Given the description of an element on the screen output the (x, y) to click on. 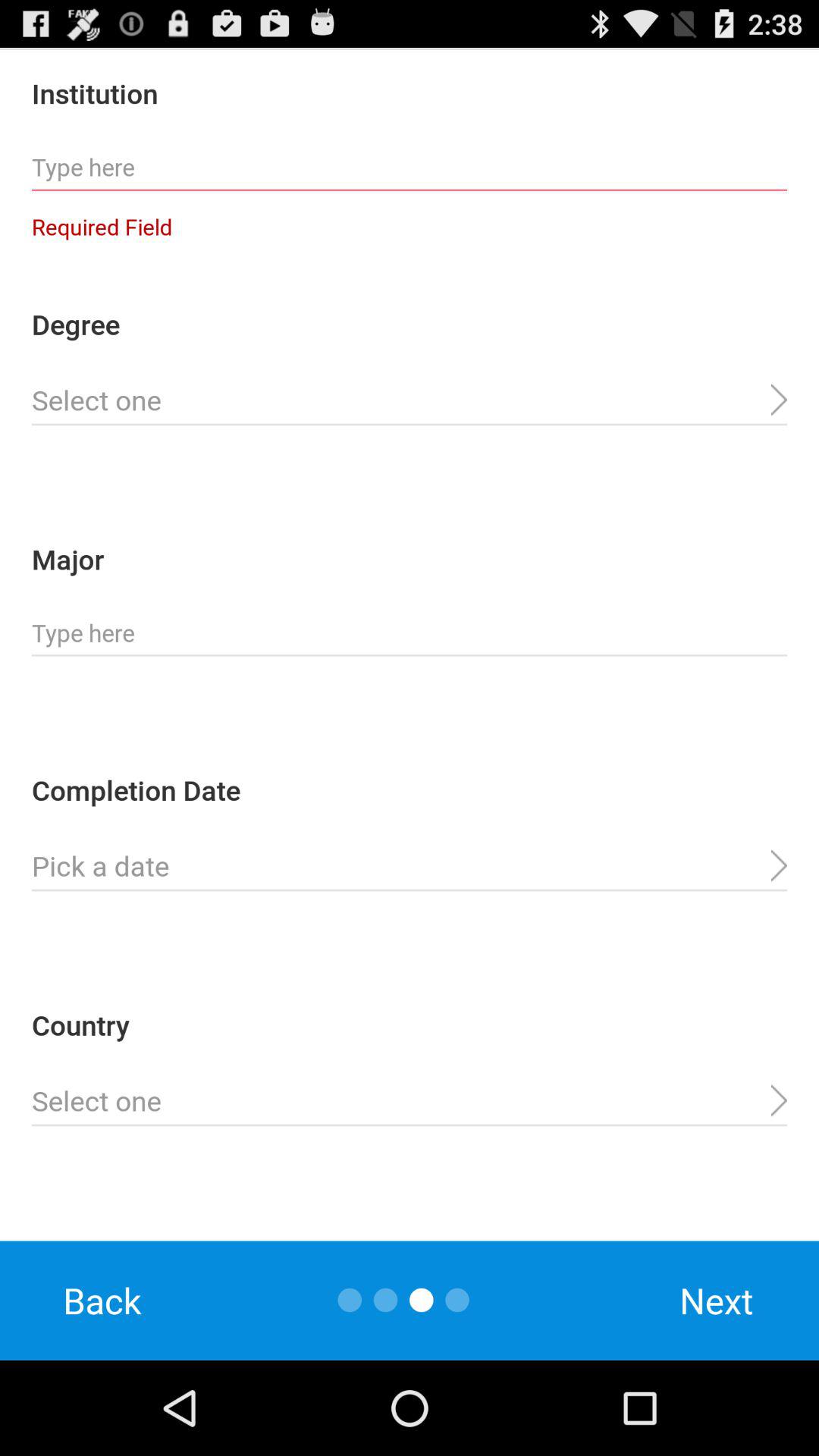
enter institution (409, 167)
